Given the description of an element on the screen output the (x, y) to click on. 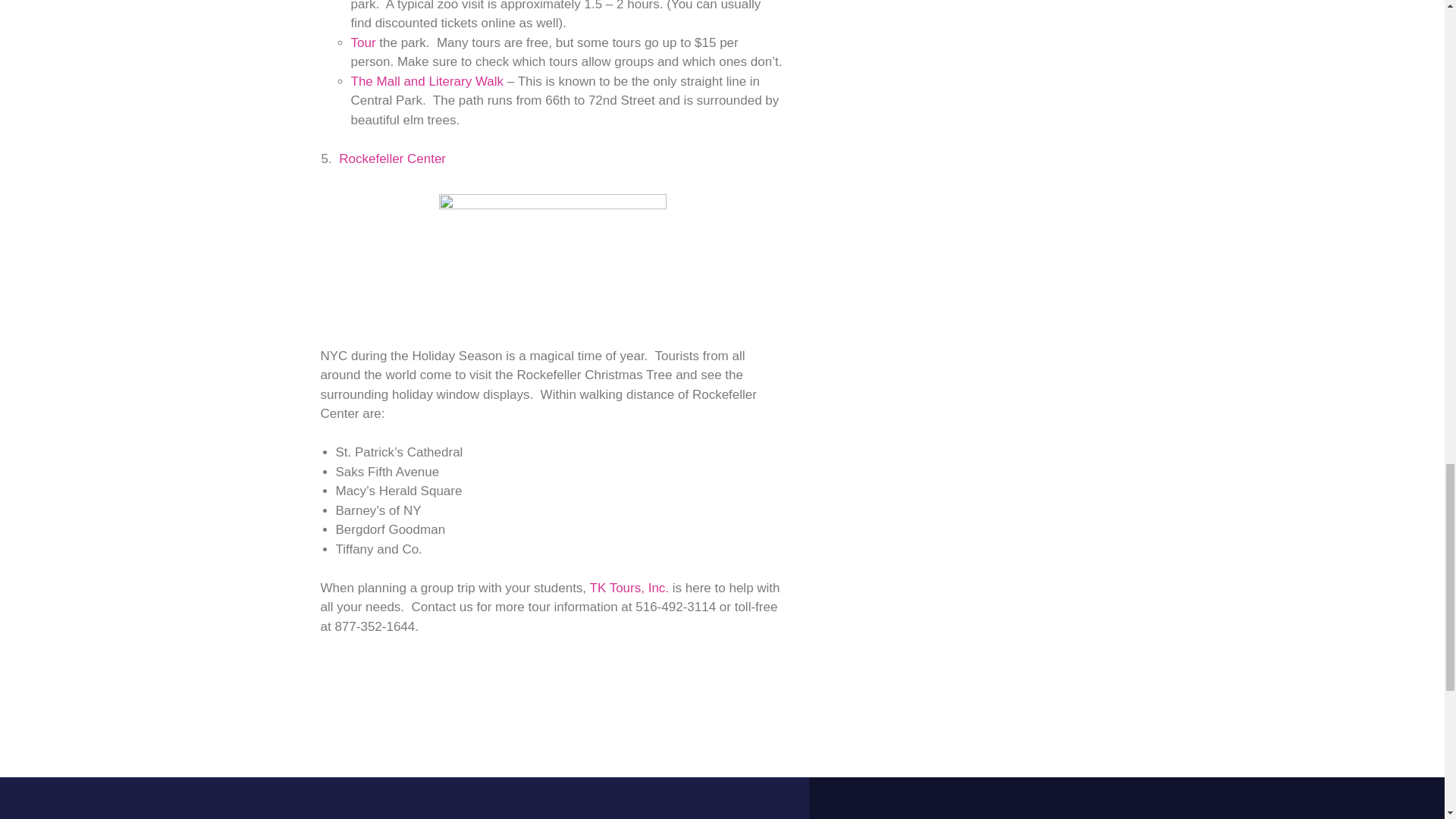
Tour (362, 42)
The Mall and Literary Walk (426, 81)
TK Tours, Inc. (629, 587)
Rockefeller Center (392, 158)
